Given the description of an element on the screen output the (x, y) to click on. 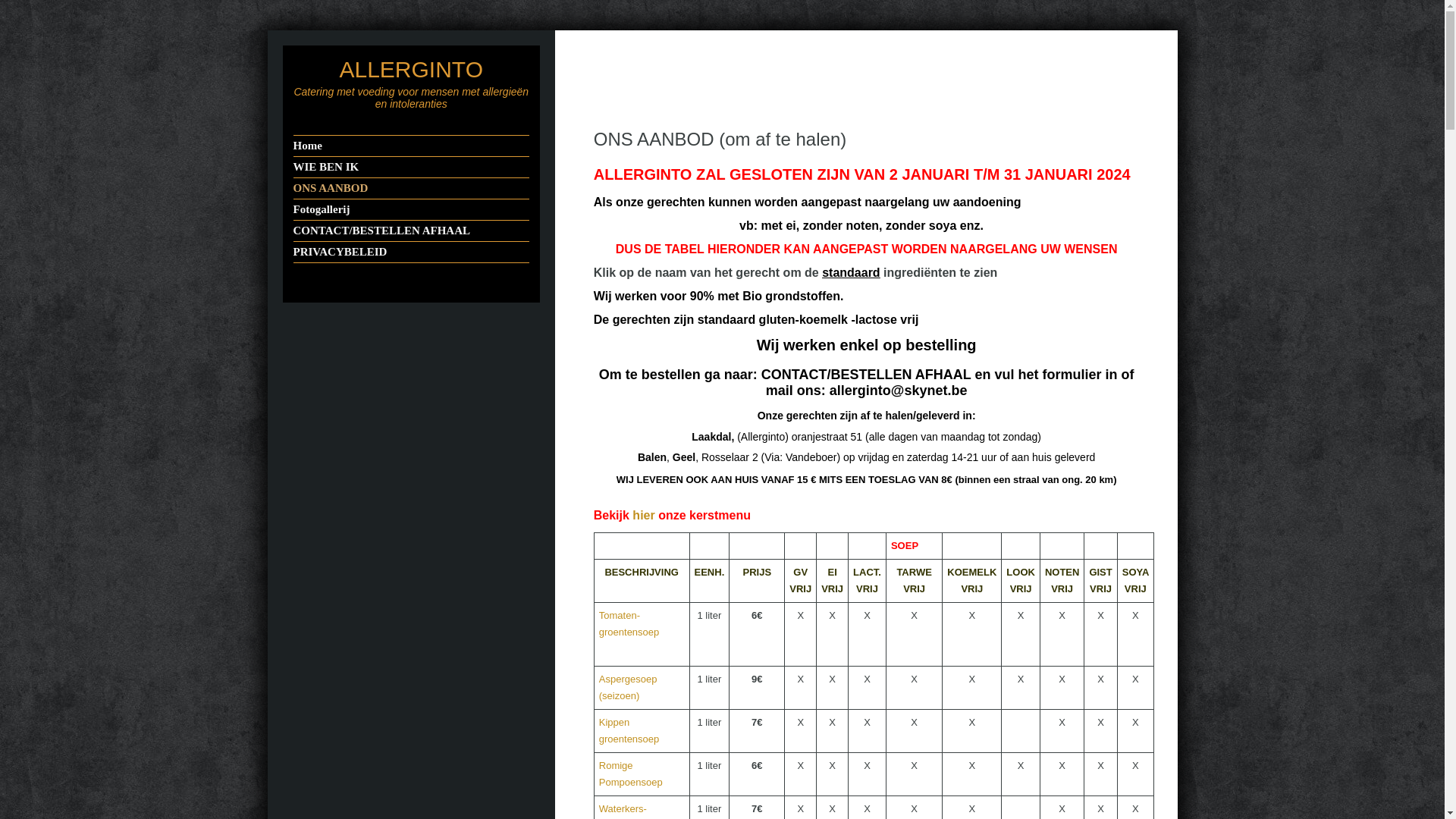
Home Element type: text (410, 145)
hier Element type: text (643, 514)
Romige Pompoensoep Element type: text (630, 773)
ONS AANBOD Element type: text (410, 188)
Tomaten-groentensoep Element type: text (629, 623)
WIE BEN IK Element type: text (410, 166)
Fotogallerij Element type: text (410, 209)
Kippen groentensoep Element type: text (629, 730)
ALLERGINTO Element type: text (410, 68)
Aspergesoep (seizoen) Element type: text (628, 687)
CONTACT/BESTELLEN AFHAAL Element type: text (410, 230)
PRIVACYBELEID Element type: text (410, 251)
